Given the description of an element on the screen output the (x, y) to click on. 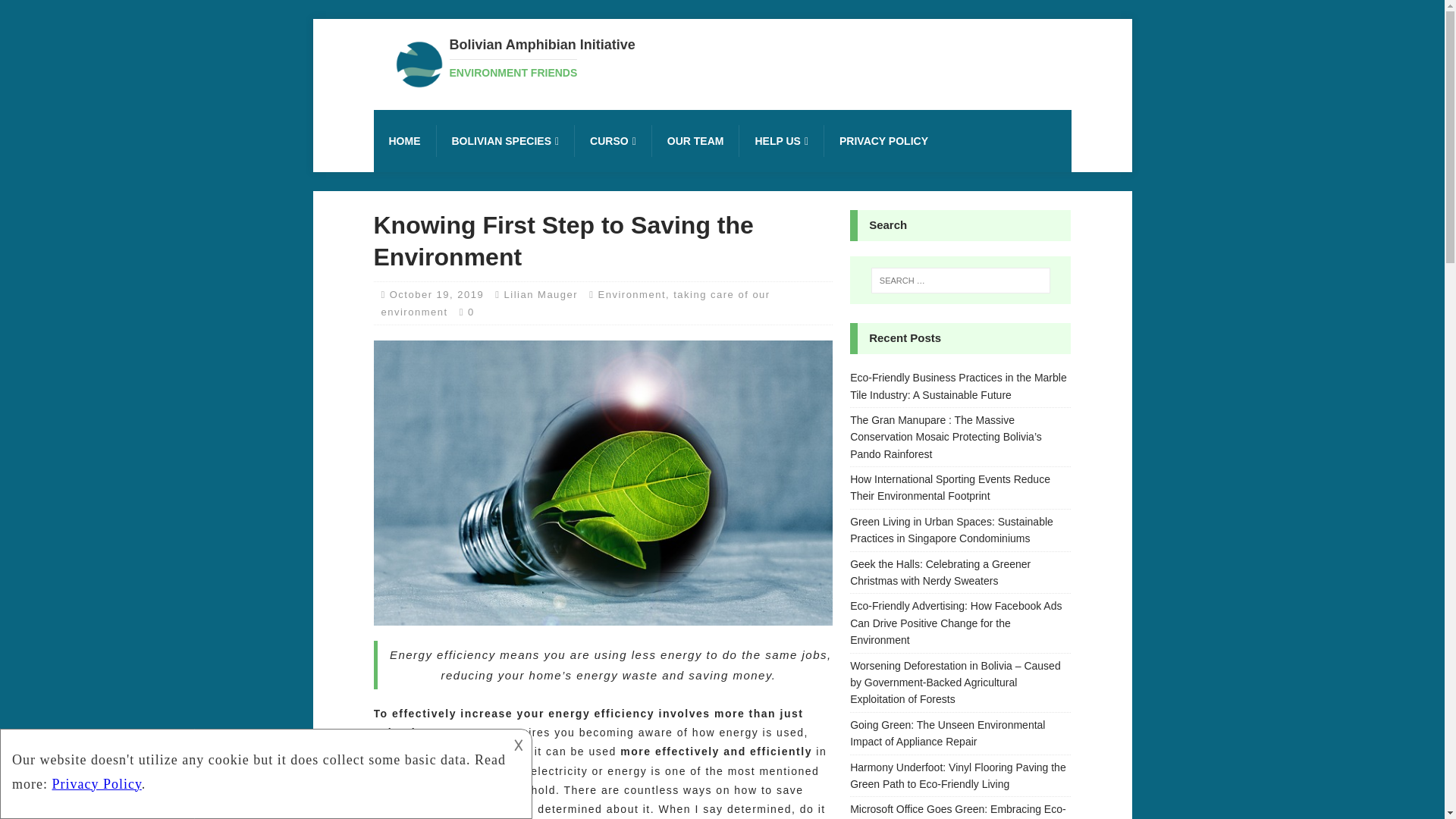
HOME (403, 141)
OUR TEAM (694, 141)
BOLIVIAN SPECIES (504, 141)
CURSO (611, 141)
HELP US (781, 141)
taking care of our environment (575, 303)
October 19, 2019 (436, 294)
Bolivian Amphibian Initiative (541, 57)
description (541, 57)
